Given the description of an element on the screen output the (x, y) to click on. 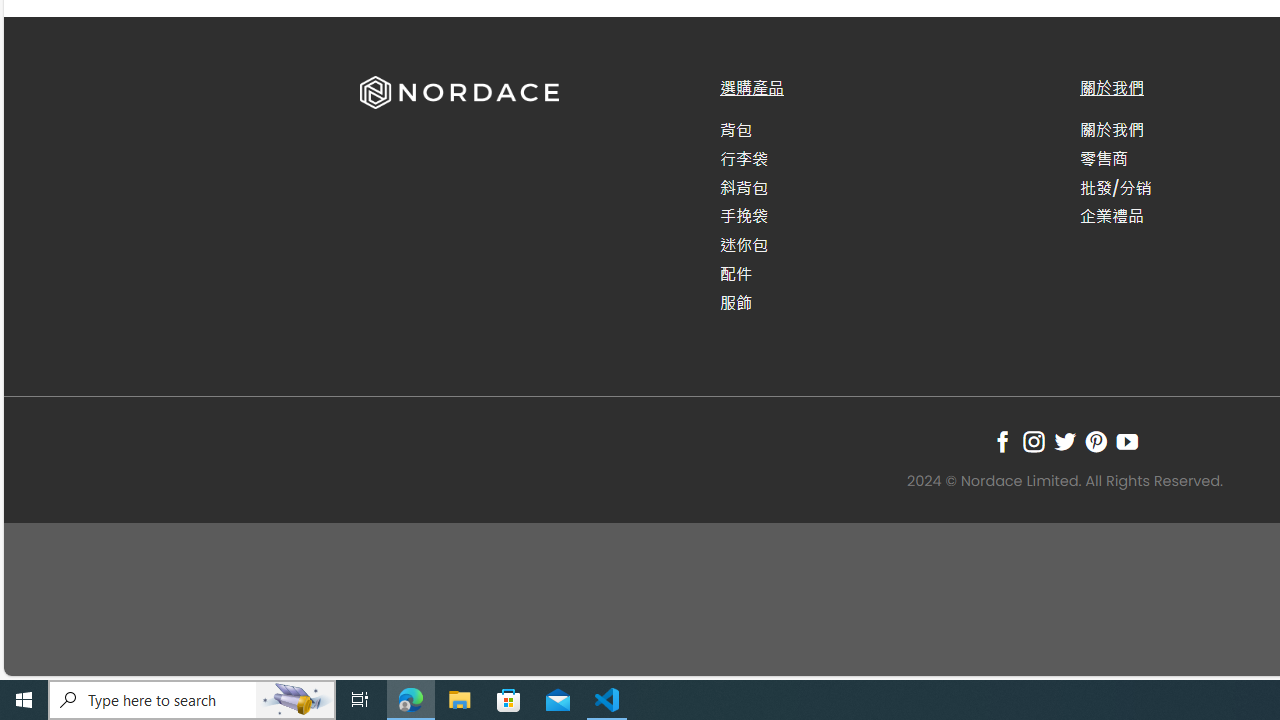
Follow on YouTube (1126, 441)
Follow on Facebook (1002, 441)
Follow on Instagram (1033, 441)
